Given the description of an element on the screen output the (x, y) to click on. 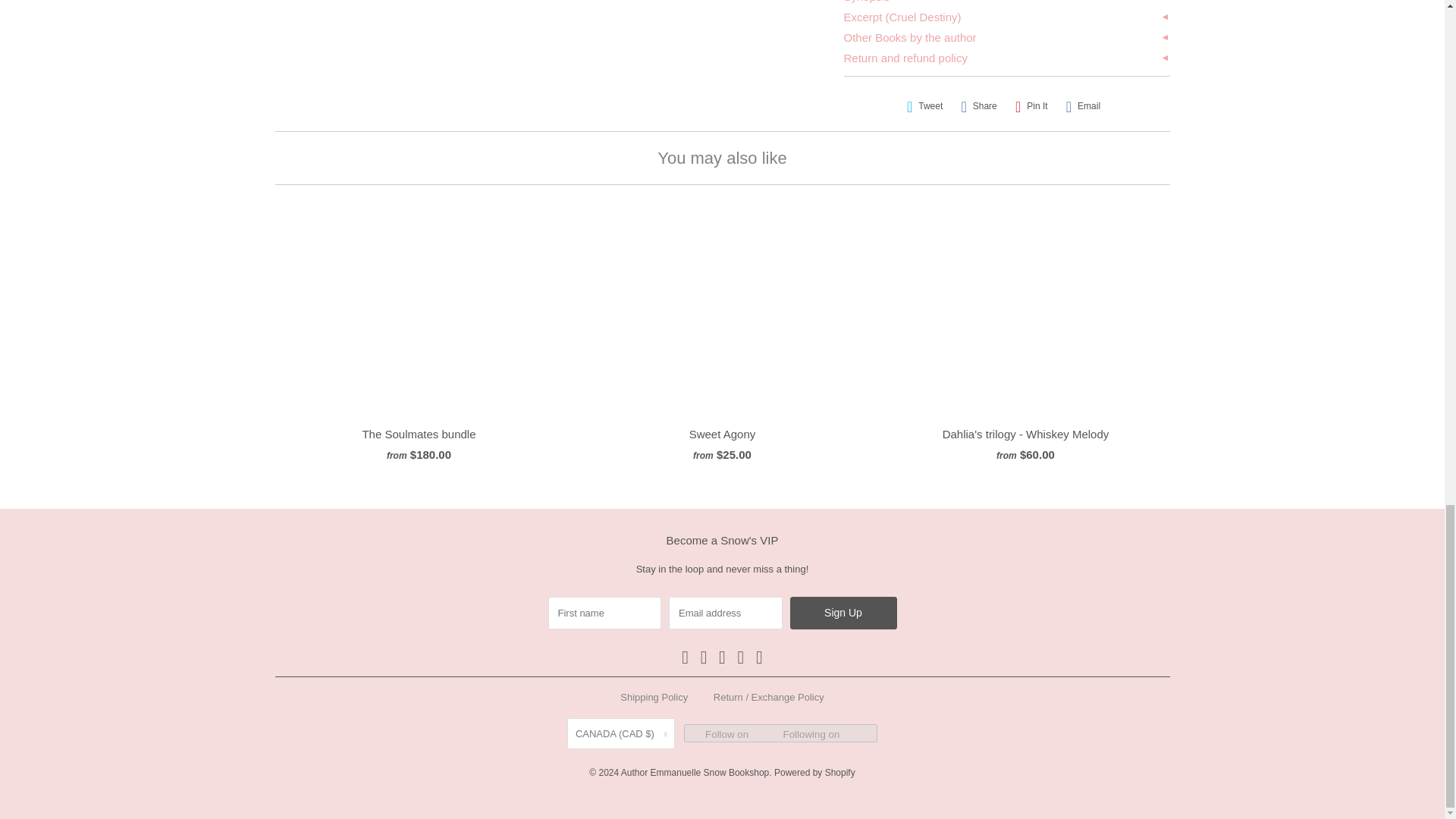
Email this to a friend (1083, 106)
Share this on Pinterest (1031, 106)
Share this on Twitter (924, 106)
Sign Up (843, 613)
Share this on Facebook (978, 106)
